Given the description of an element on the screen output the (x, y) to click on. 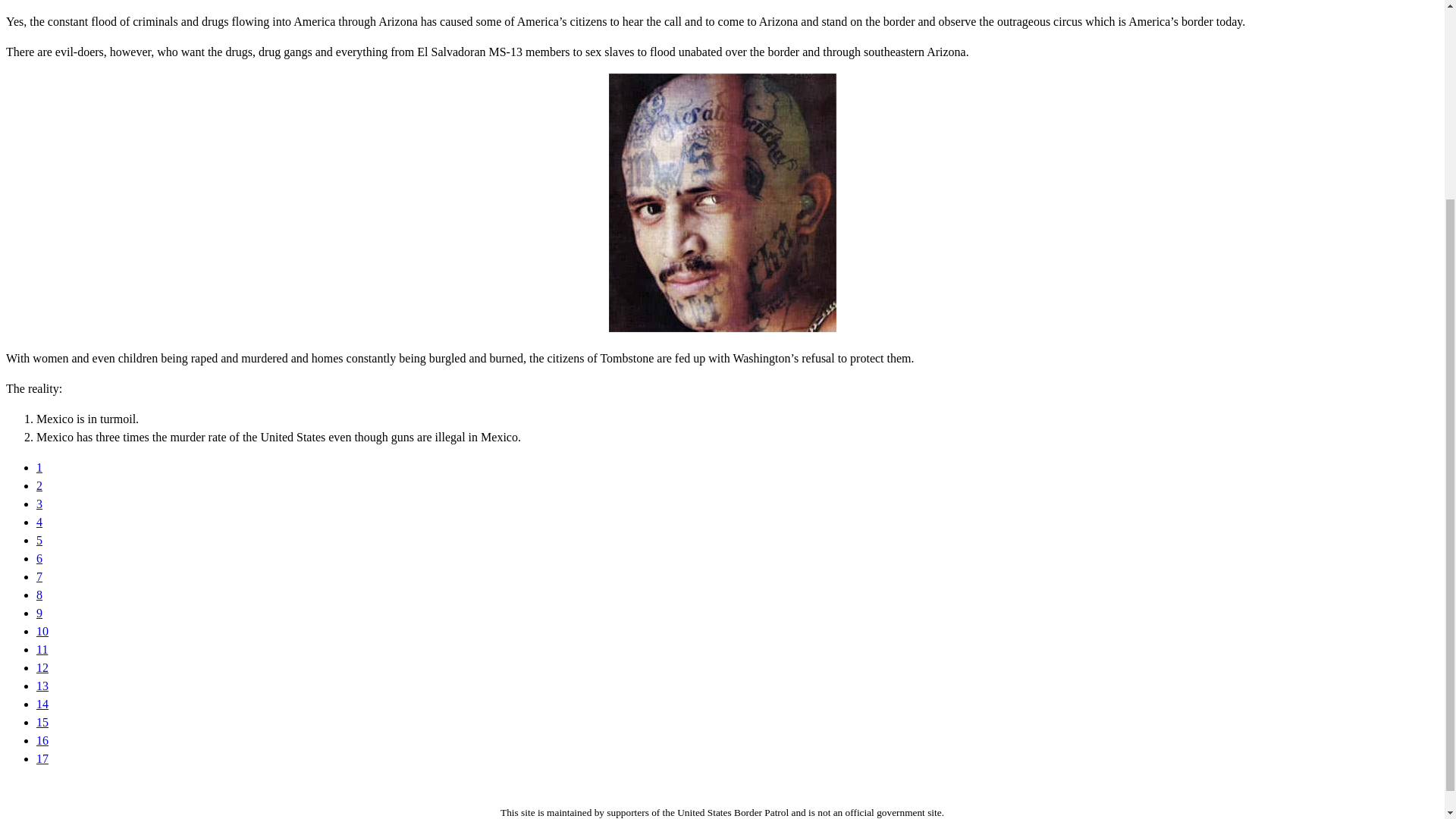
10 (42, 631)
16 (42, 739)
17 (42, 758)
13 (42, 685)
14 (42, 703)
15 (42, 721)
12 (42, 667)
